Given the description of an element on the screen output the (x, y) to click on. 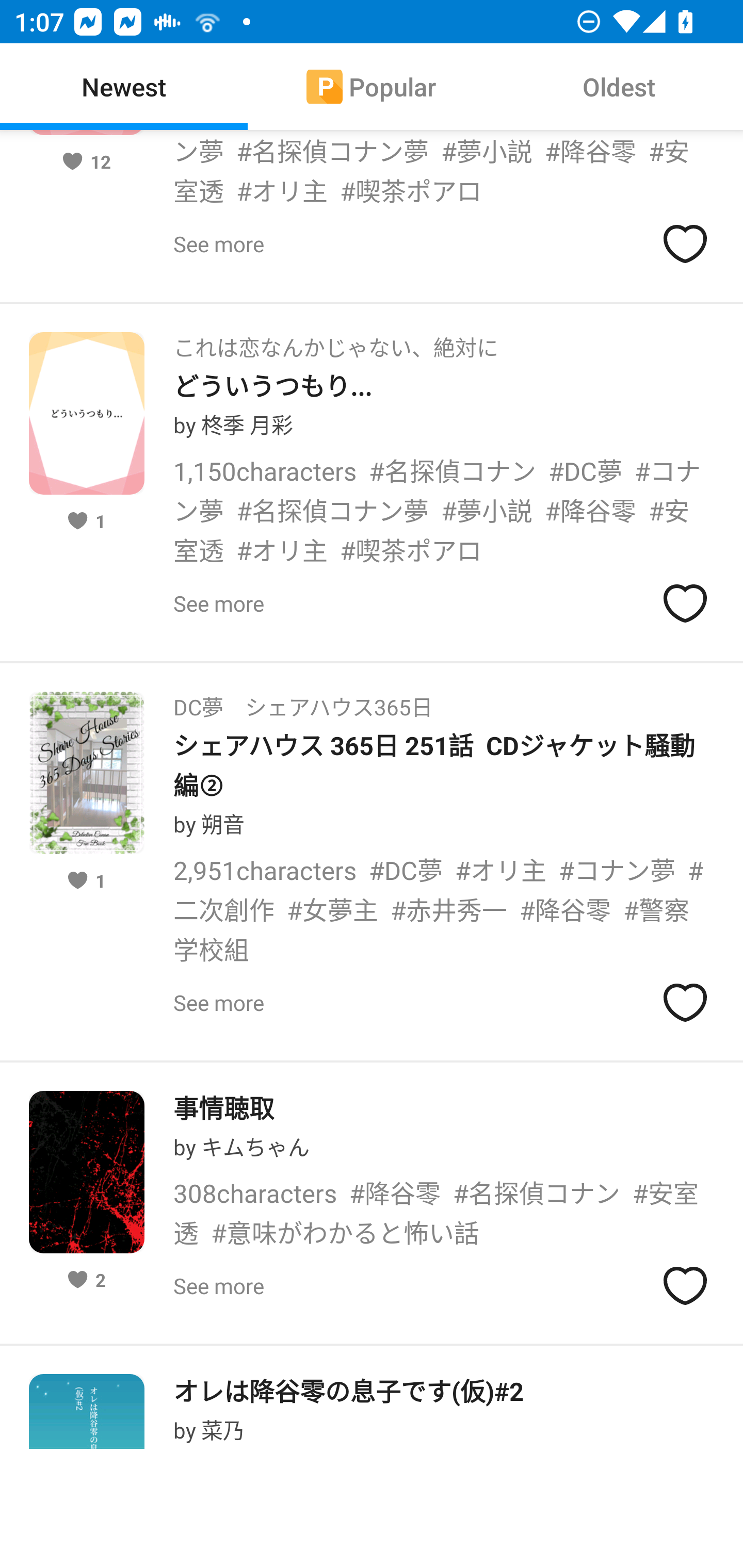
[P] Popular (371, 86)
Oldest (619, 86)
これは恋なんかじゃない、絶対に (335, 341)
DC夢　シェアハウス365日 (303, 700)
